Given the description of an element on the screen output the (x, y) to click on. 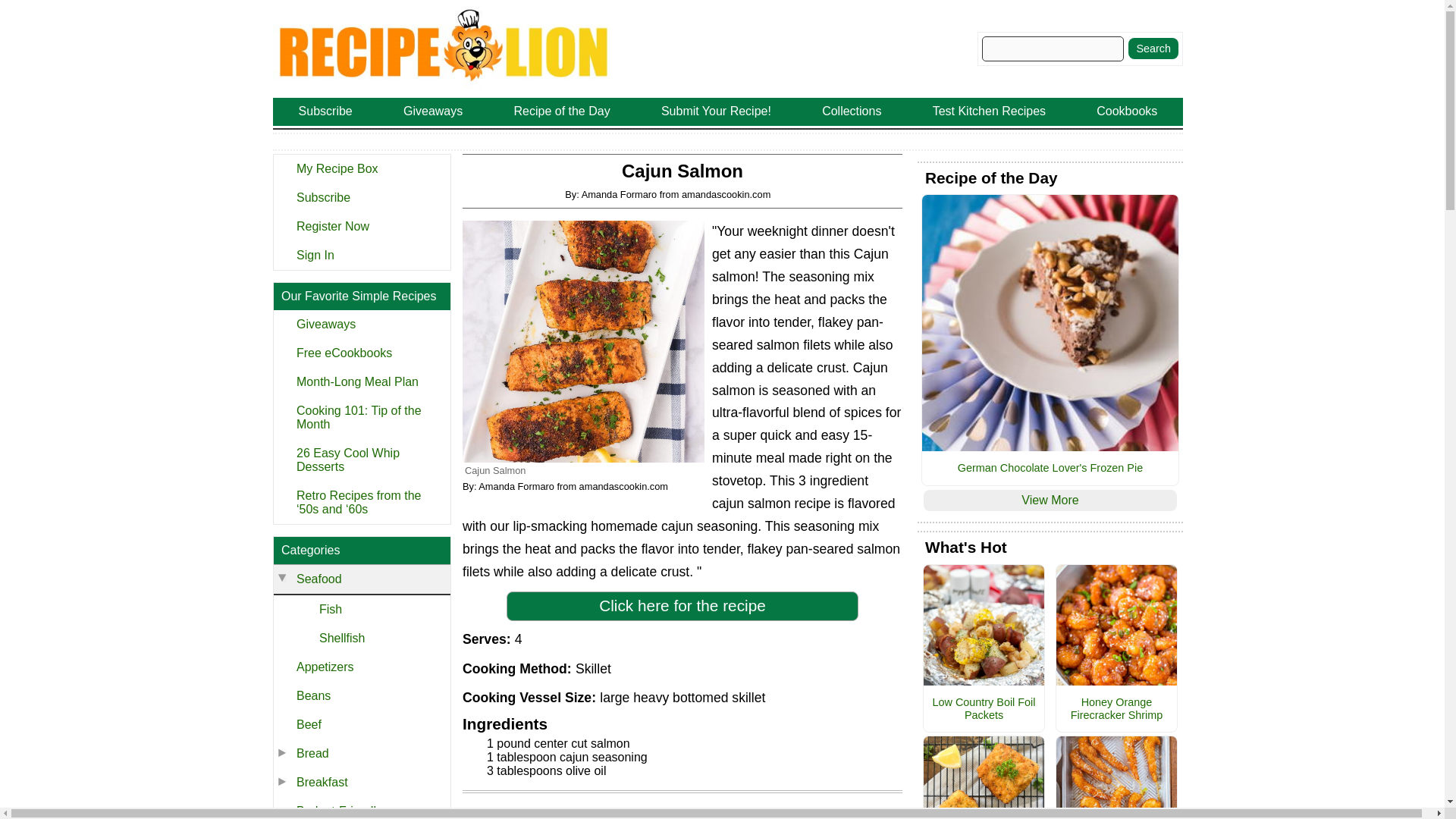
Cajun Salmon (583, 341)
Search (1152, 47)
Subscribe (361, 197)
Register Now (361, 226)
Sign In (361, 255)
My Recipe Box (361, 168)
